Given the description of an element on the screen output the (x, y) to click on. 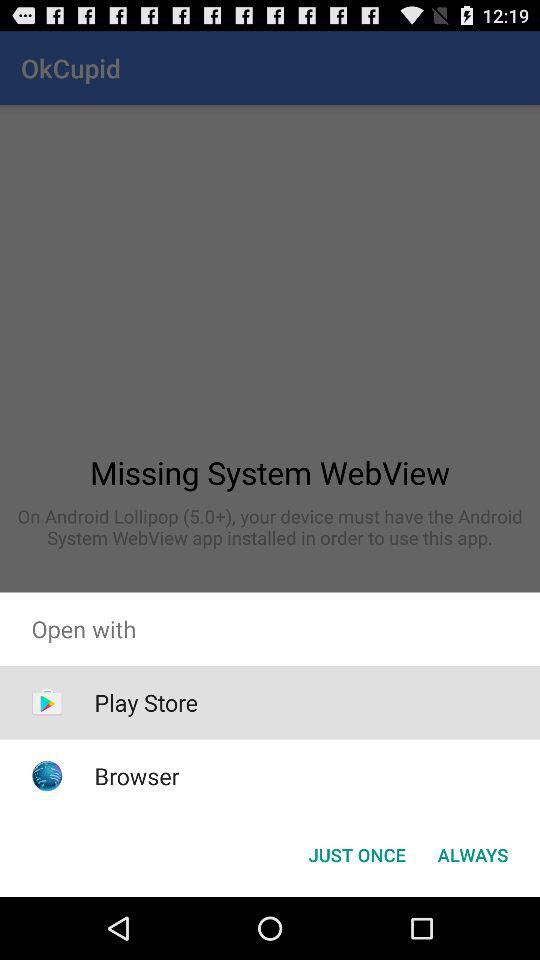
turn on button next to the always icon (356, 854)
